Given the description of an element on the screen output the (x, y) to click on. 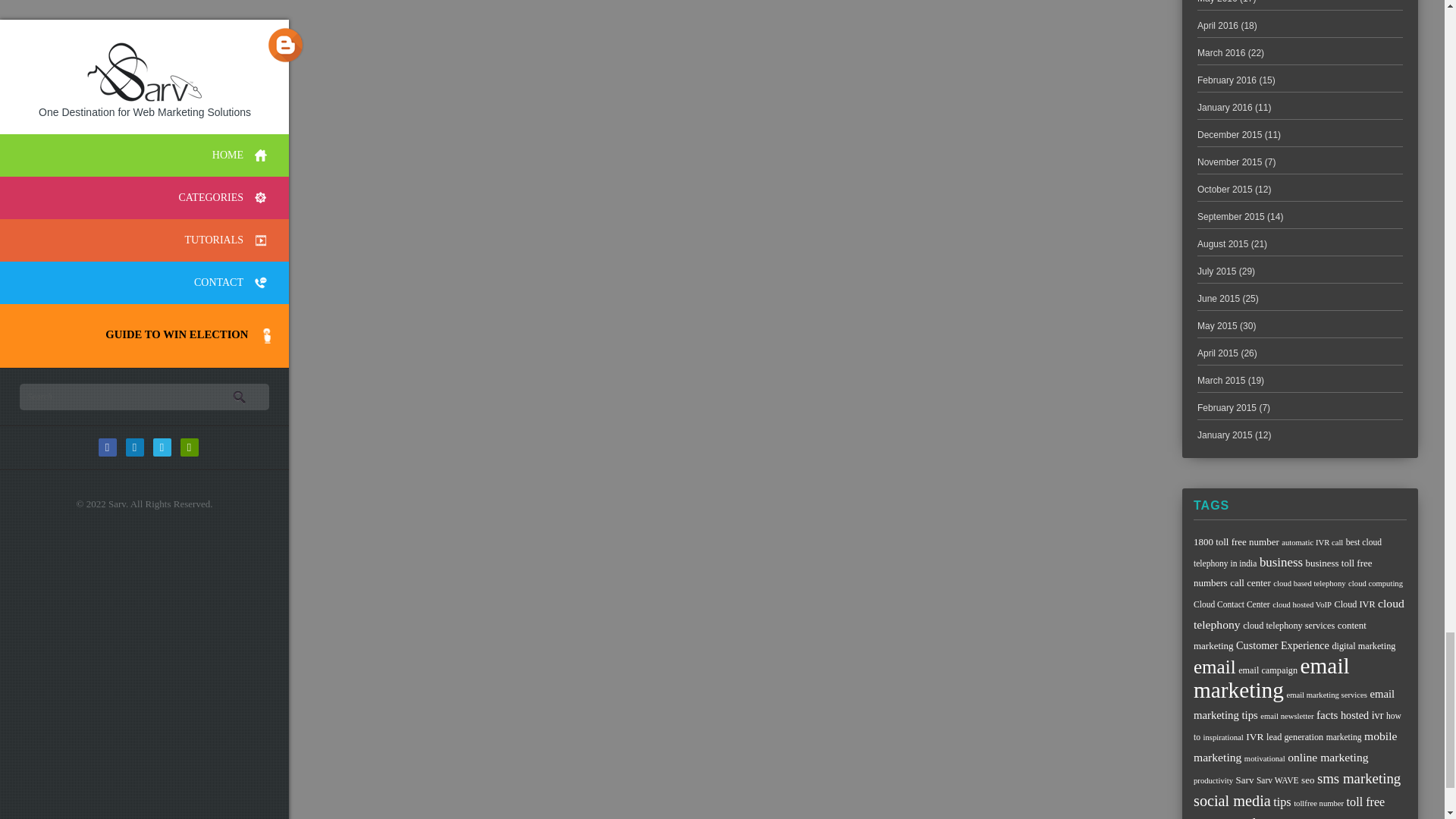
11 topics (1282, 572)
19 topics (1281, 562)
11 topics (1250, 582)
8 topics (1311, 542)
11 topics (1236, 541)
9 topics (1287, 552)
